Given the description of an element on the screen output the (x, y) to click on. 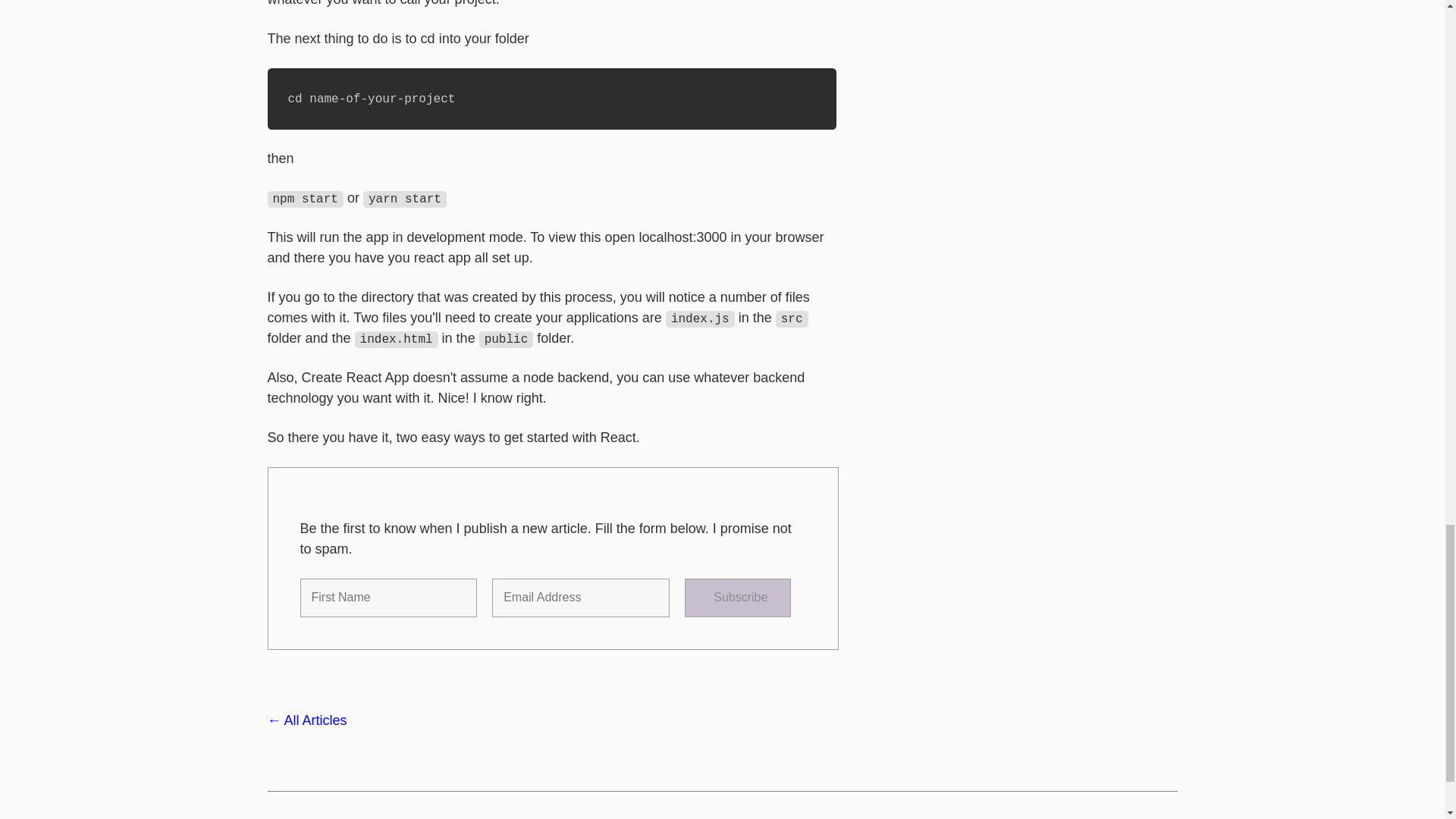
Subscribe (737, 597)
Subscribe (737, 597)
